Given the description of an element on the screen output the (x, y) to click on. 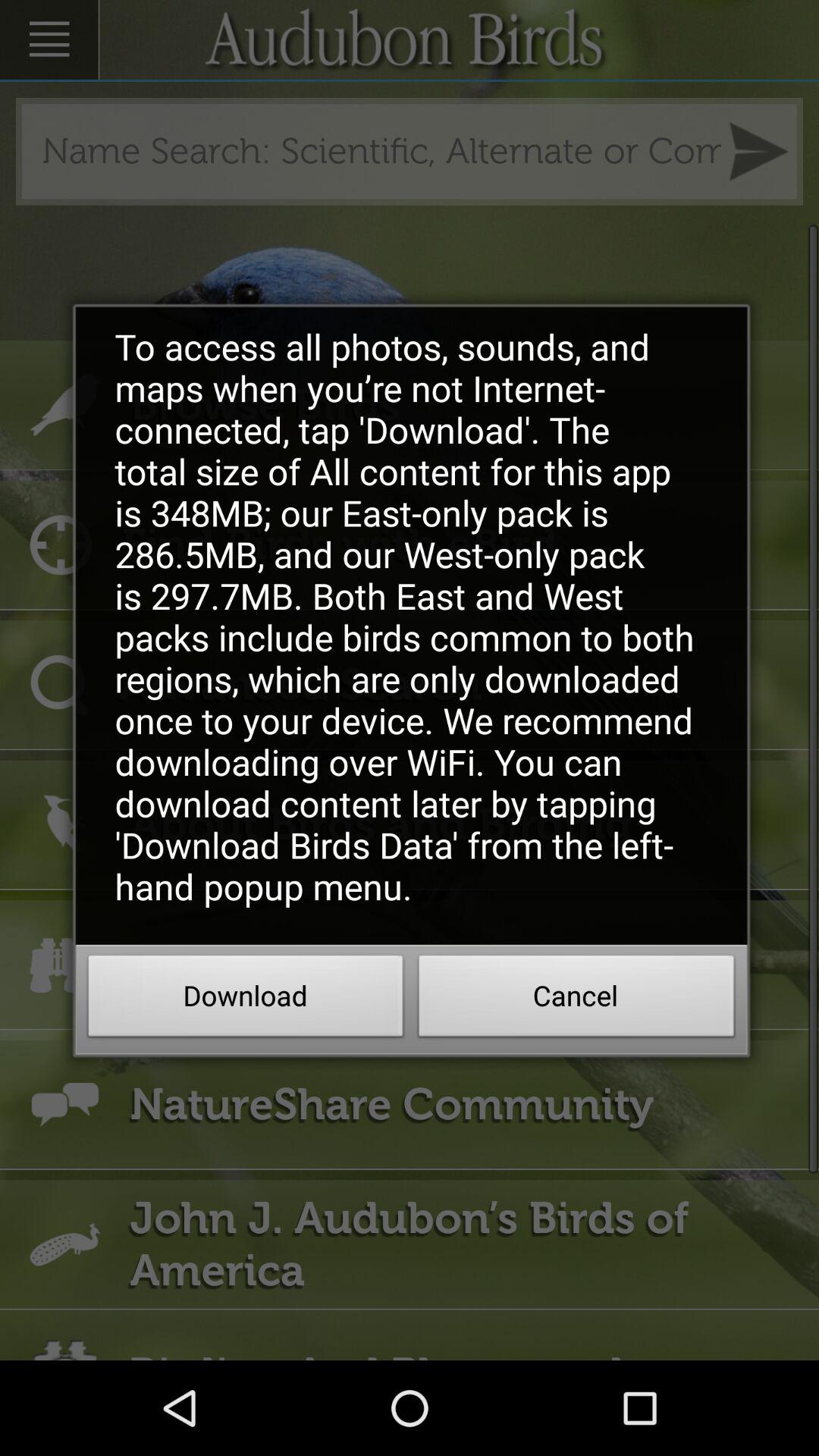
open item next to download button (576, 1000)
